Given the description of an element on the screen output the (x, y) to click on. 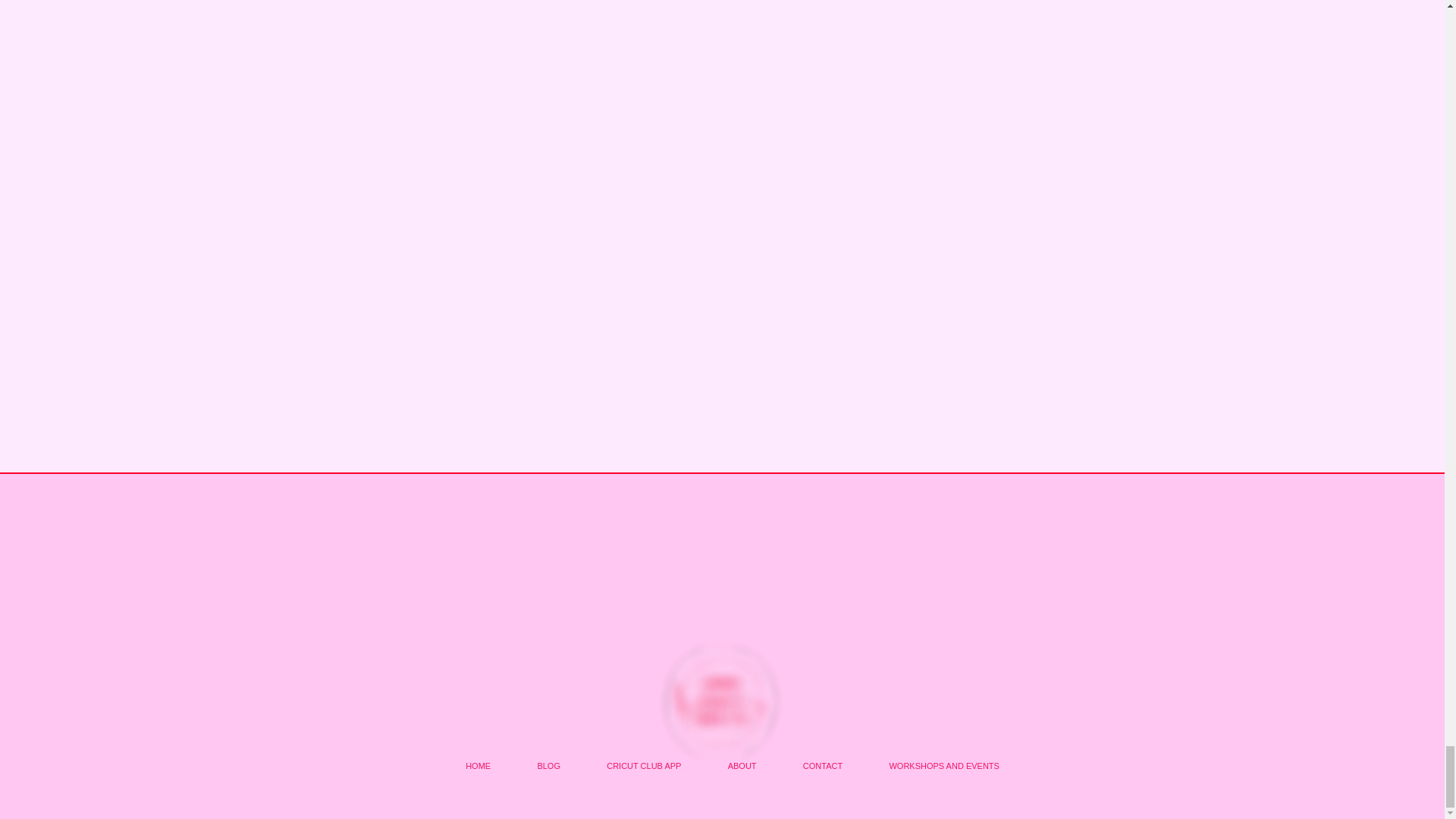
CONTACT (823, 766)
WORKSHOPS AND EVENTS (944, 766)
CRICUT CLUB APP (643, 766)
HOME (478, 766)
BLOG (548, 766)
ABOUT (741, 766)
